Given the description of an element on the screen output the (x, y) to click on. 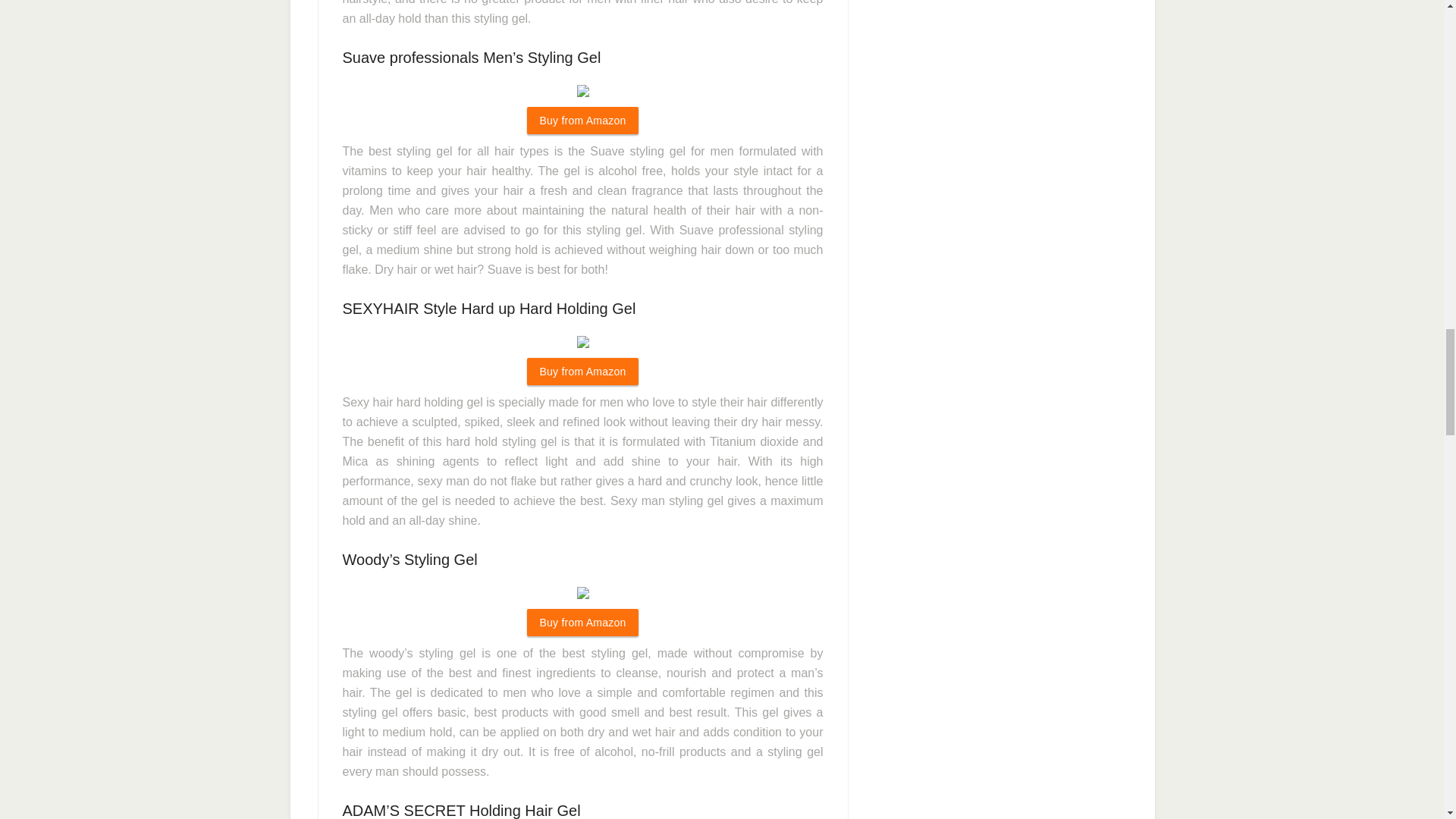
Buy from Amazon (582, 622)
Buy from Amazon (582, 120)
Buy from Amazon (582, 370)
